Given the description of an element on the screen output the (x, y) to click on. 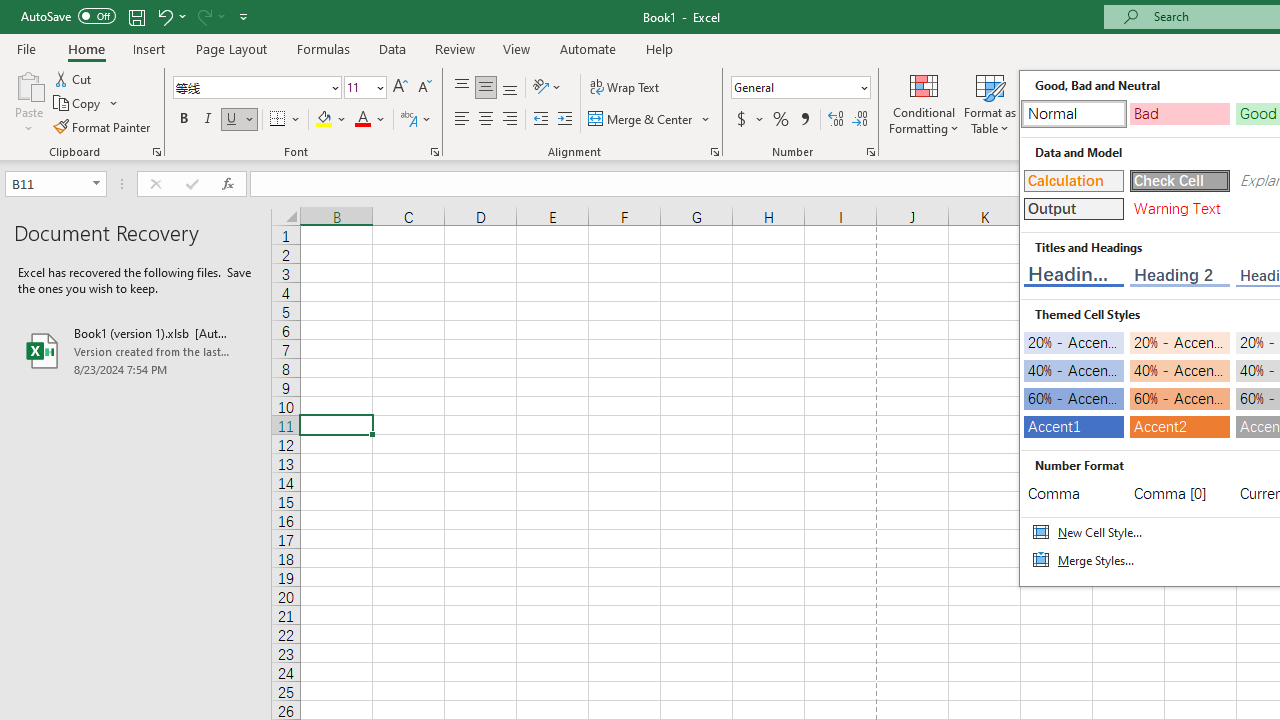
Middle Align (485, 87)
Bold (183, 119)
Align Right (509, 119)
Percent Style (781, 119)
Underline (232, 119)
Borders (285, 119)
Bottom Align (509, 87)
